Given the description of an element on the screen output the (x, y) to click on. 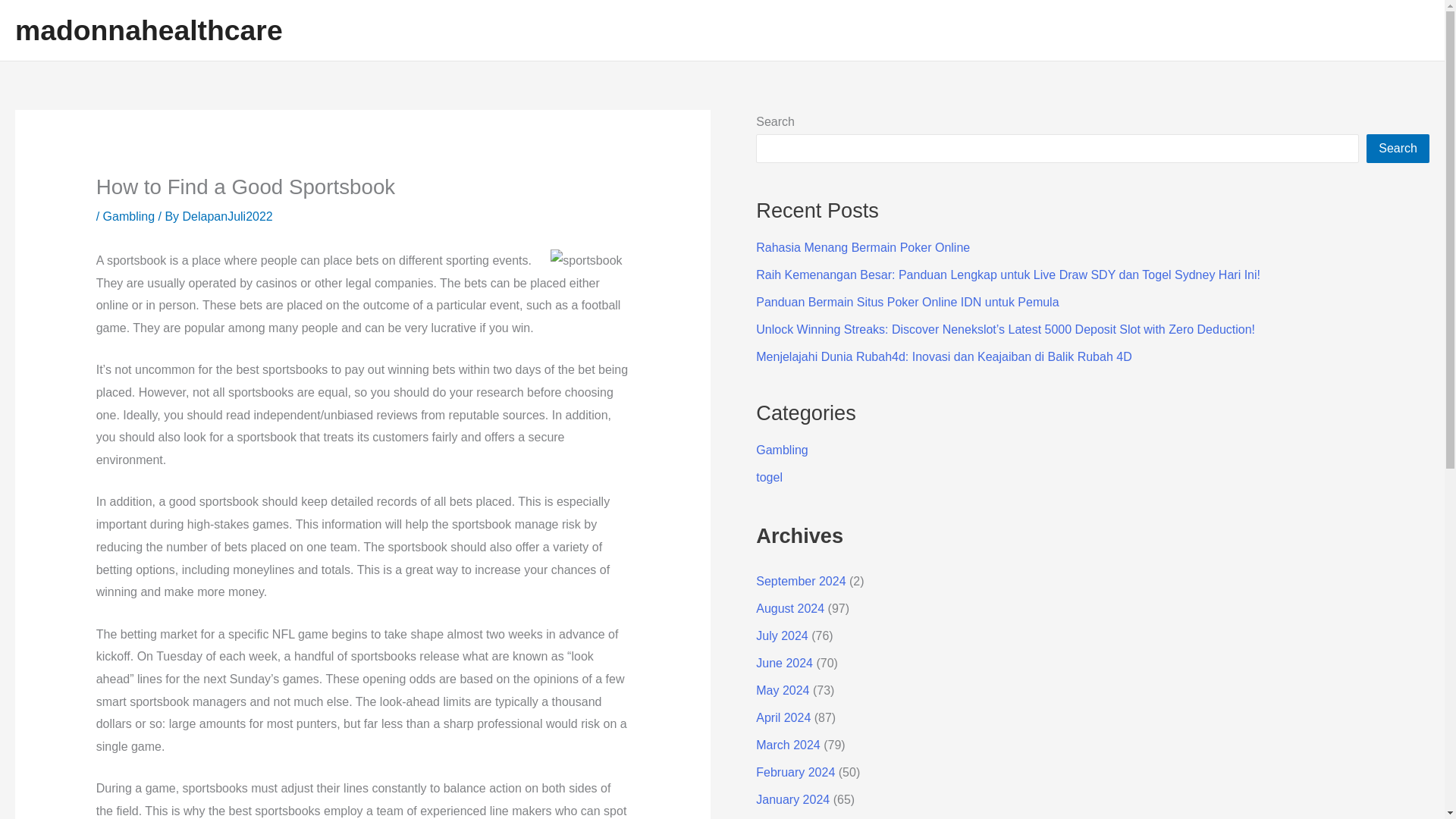
Search (1398, 148)
August 2024 (789, 608)
June 2024 (783, 662)
madonnahealthcare (148, 29)
July 2024 (781, 635)
March 2024 (788, 744)
Gambling (128, 215)
January 2024 (792, 799)
February 2024 (794, 771)
